Given the description of an element on the screen output the (x, y) to click on. 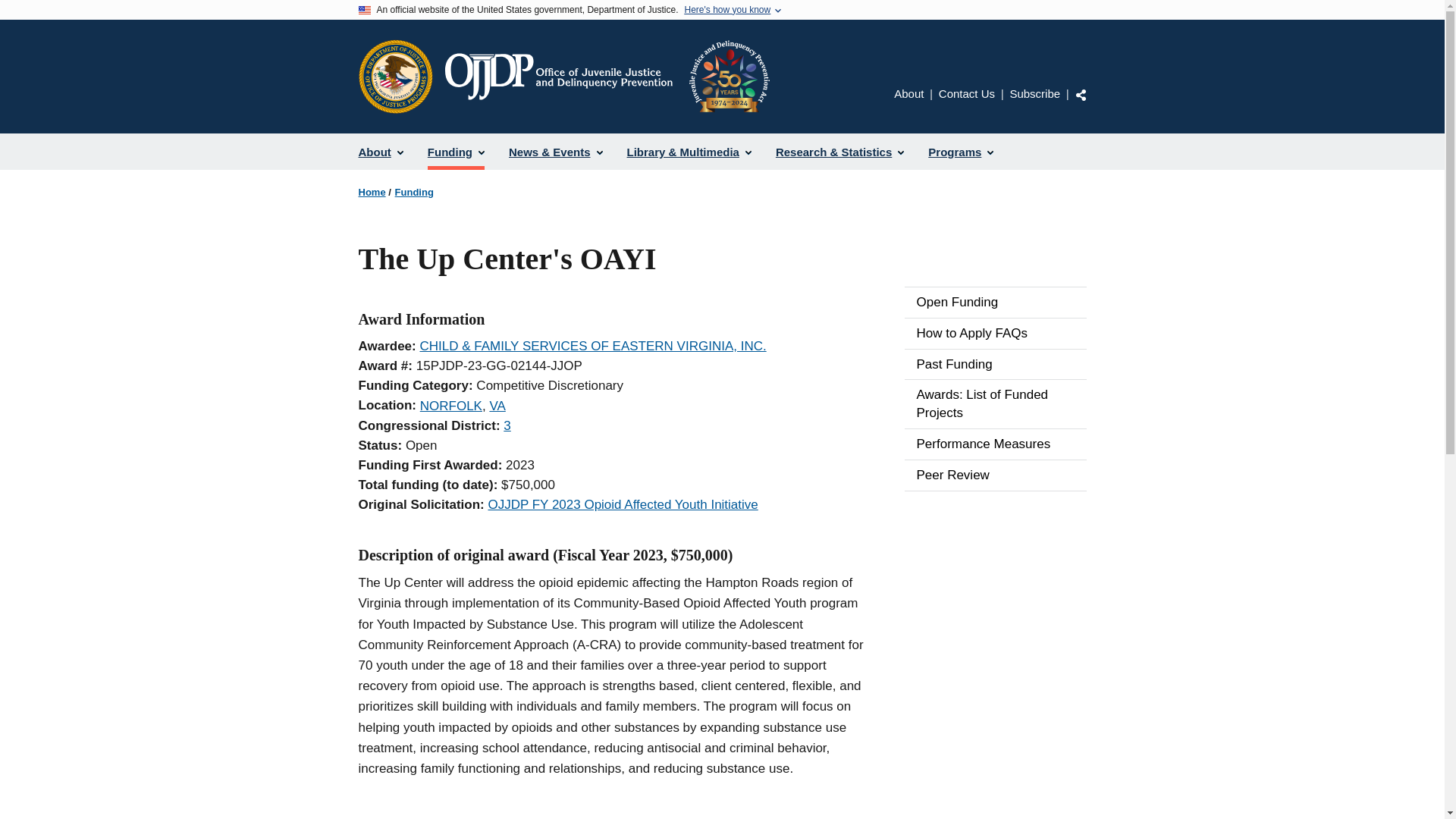
Choose a social sharing platform (1080, 94)
Awards: List of Funded Projects (995, 404)
Home (606, 76)
Here's how you know (727, 9)
Peer Review (995, 475)
Past Funding (995, 364)
Open Funding (995, 302)
About (908, 93)
Funding (413, 192)
